Given the description of an element on the screen output the (x, y) to click on. 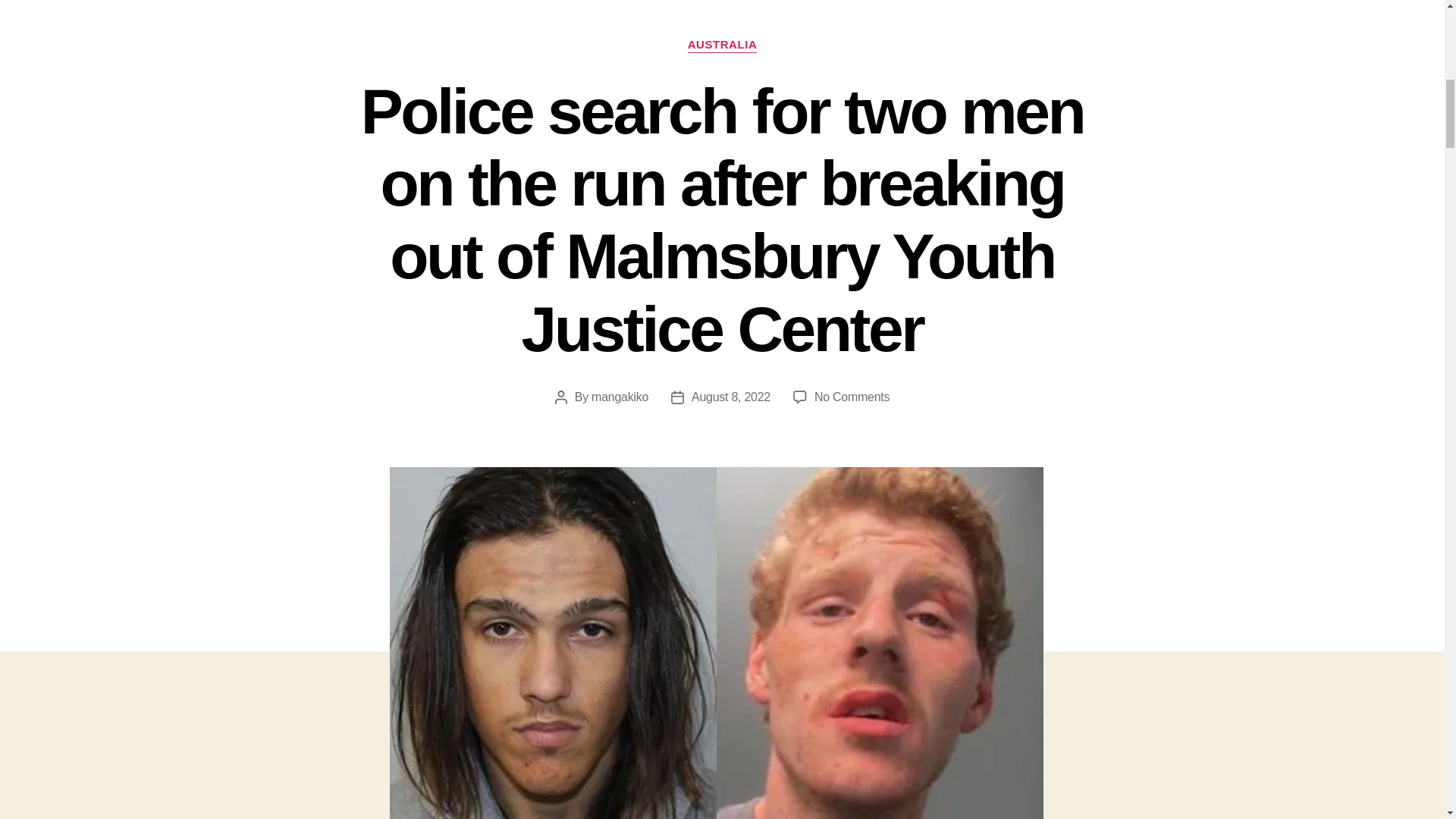
August 8, 2022 (730, 396)
AUSTRALIA (722, 45)
mangakiko (619, 396)
